Given the description of an element on the screen output the (x, y) to click on. 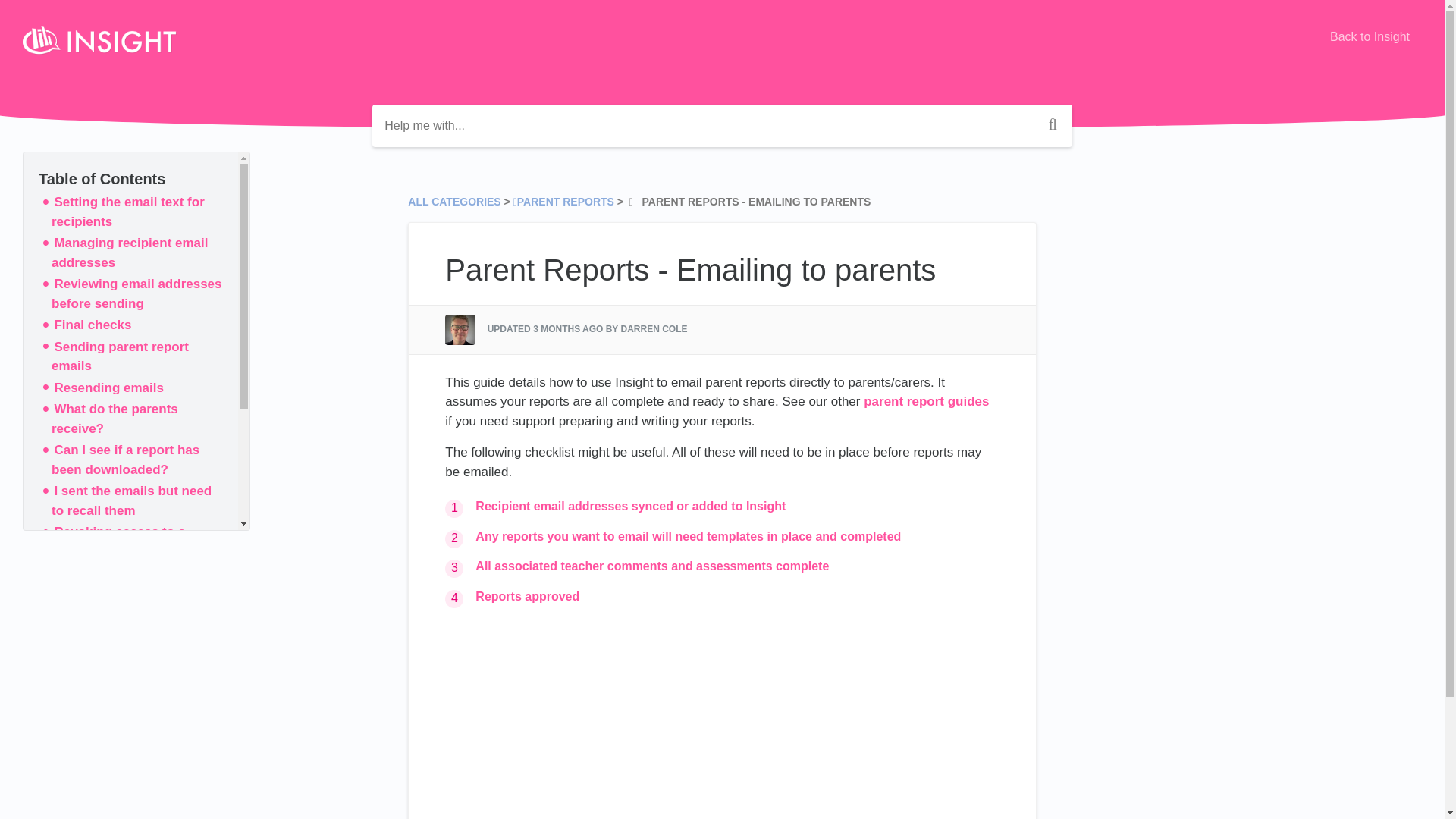
Can I see if a report has been downloaded? (124, 459)
Back to Insight (1369, 36)
Sending parent report emails (119, 356)
Parent Reports Emailing parents (721, 720)
Reviewing email addresses before sending (136, 293)
What do the parents receive? (113, 418)
Revoking access to a report (117, 541)
All associated teacher comments and assessments complete (652, 565)
parent report guides (925, 400)
